Given the description of an element on the screen output the (x, y) to click on. 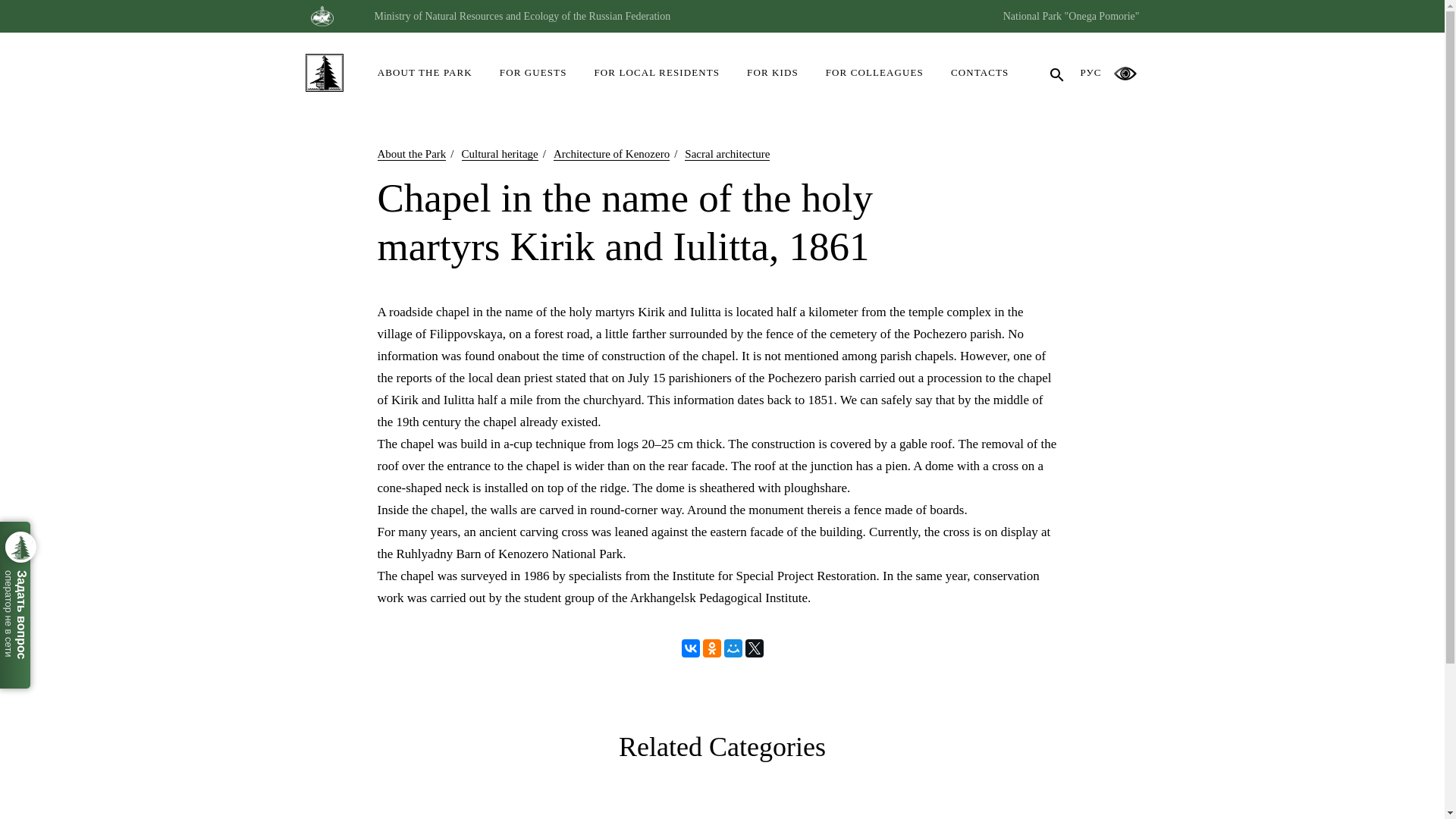
National Park "Onega Pomorie" (1071, 16)
FOR GUESTS (533, 67)
FOR KIDS (772, 67)
Twitter (753, 648)
FOR LOCAL RESIDENTS (656, 67)
ABOUT THE PARK (425, 67)
